Given the description of an element on the screen output the (x, y) to click on. 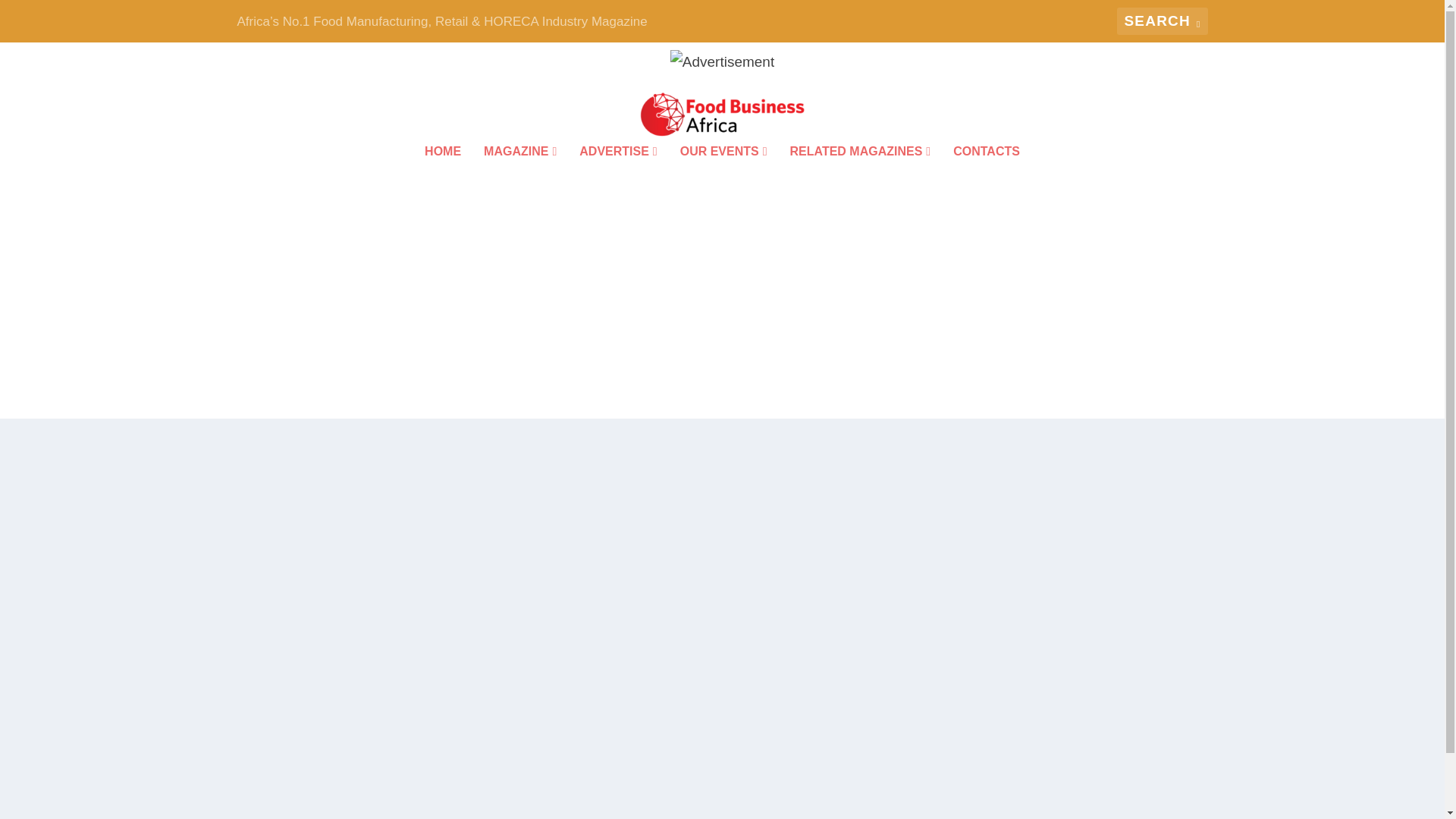
Search for: (1161, 21)
MAGAZINE (519, 172)
CONTACTS (986, 172)
ADVERTISE (617, 172)
OUR EVENTS (723, 172)
RELATED MAGAZINES (860, 172)
HOME (443, 172)
